Given the description of an element on the screen output the (x, y) to click on. 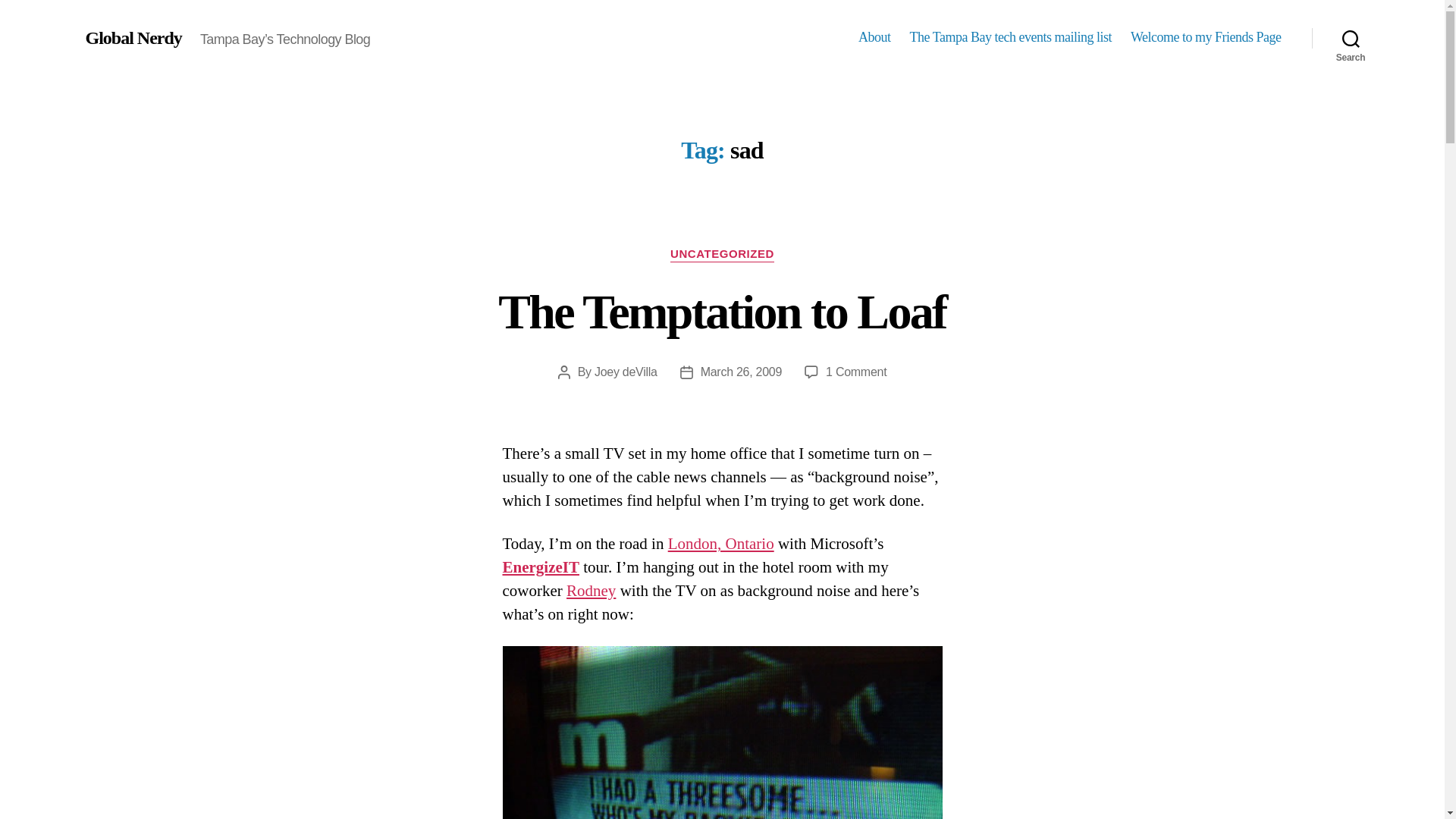
Welcome to my Friends Page (1206, 37)
Search (1350, 37)
March 26, 2009 (740, 371)
The Tampa Bay tech events mailing list (1011, 37)
Joey deVilla (626, 371)
UNCATEGORIZED (721, 254)
About (855, 371)
London, Ontario (875, 37)
